Given the description of an element on the screen output the (x, y) to click on. 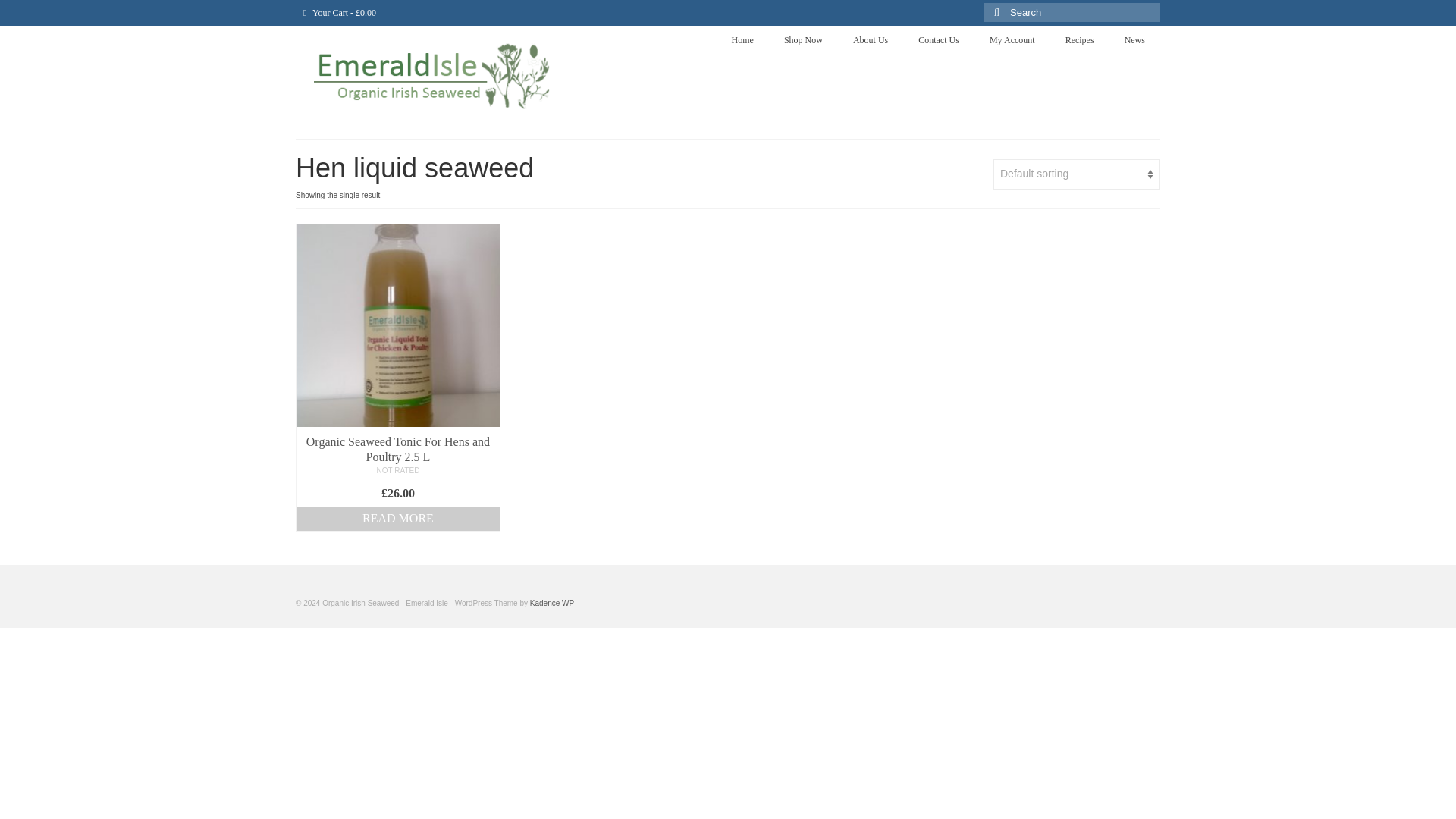
News (1134, 39)
Open our seaweed shop (803, 39)
Contact Us (938, 39)
View your shopping cart (339, 12)
Shop Now (803, 39)
About Us (870, 39)
My Account (1011, 39)
Recipes (1079, 39)
Home (742, 39)
